Given the description of an element on the screen output the (x, y) to click on. 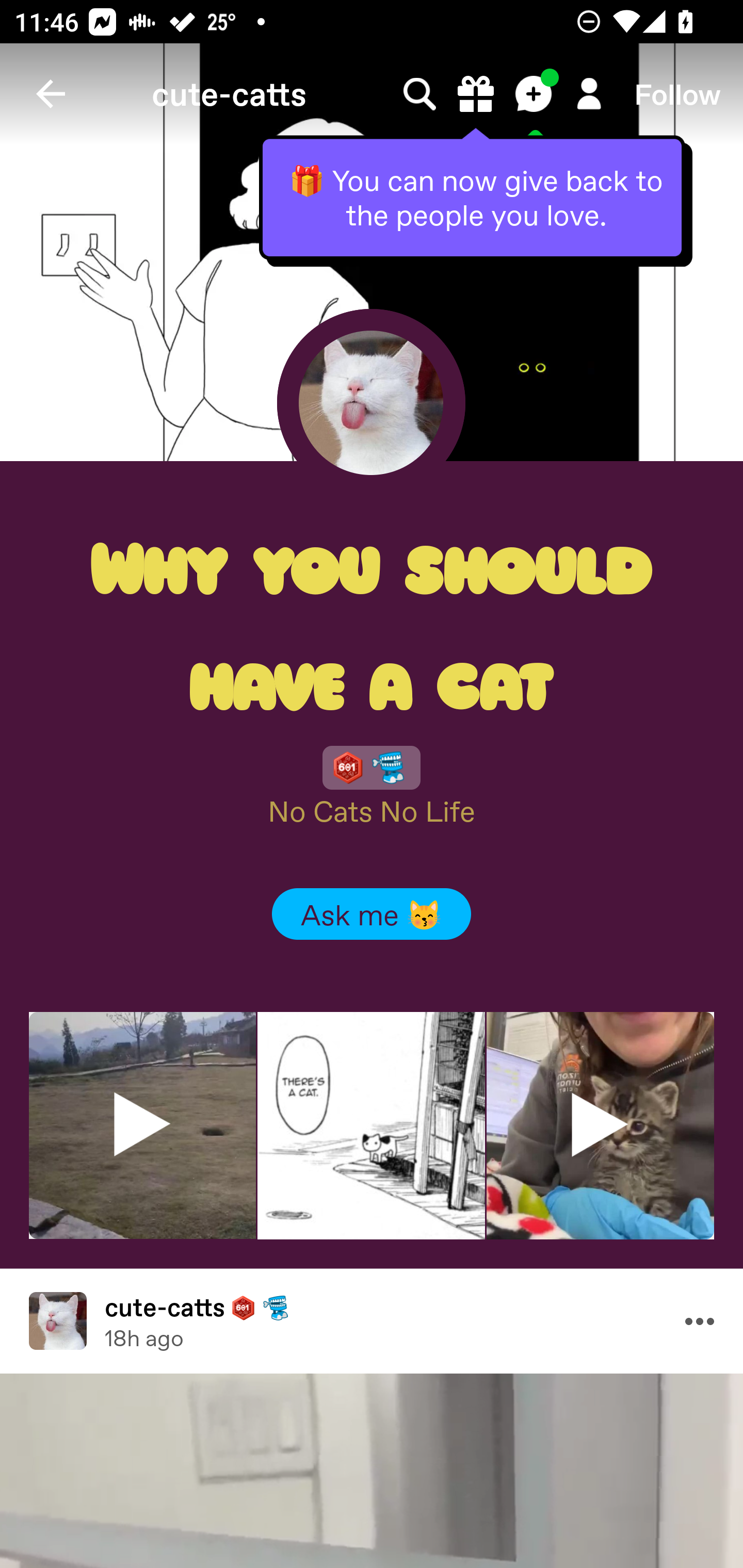
Navigate up (50, 93)
Messages (535, 93)
Follow (677, 93)
Avatar frame (371, 402)
No Cats No Life (371, 811)
Ask me 😽 (371, 913)
